Given the description of an element on the screen output the (x, y) to click on. 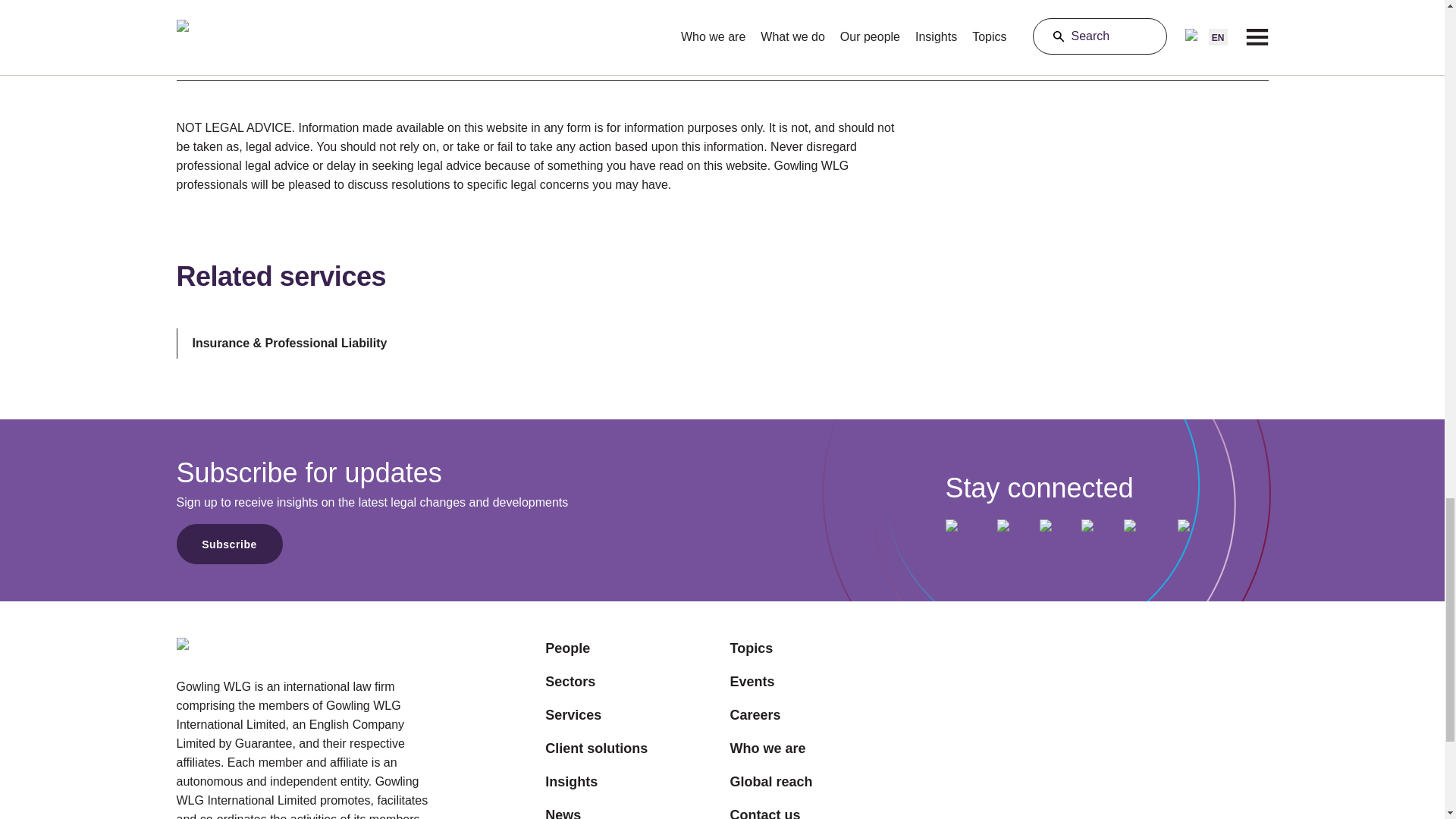
Sectors (595, 681)
Who we are (770, 748)
Events (770, 681)
Global reach (770, 781)
Services (595, 714)
News (595, 811)
Careers (770, 714)
Insights (595, 781)
People (595, 648)
Contact us (770, 811)
